Given the description of an element on the screen output the (x, y) to click on. 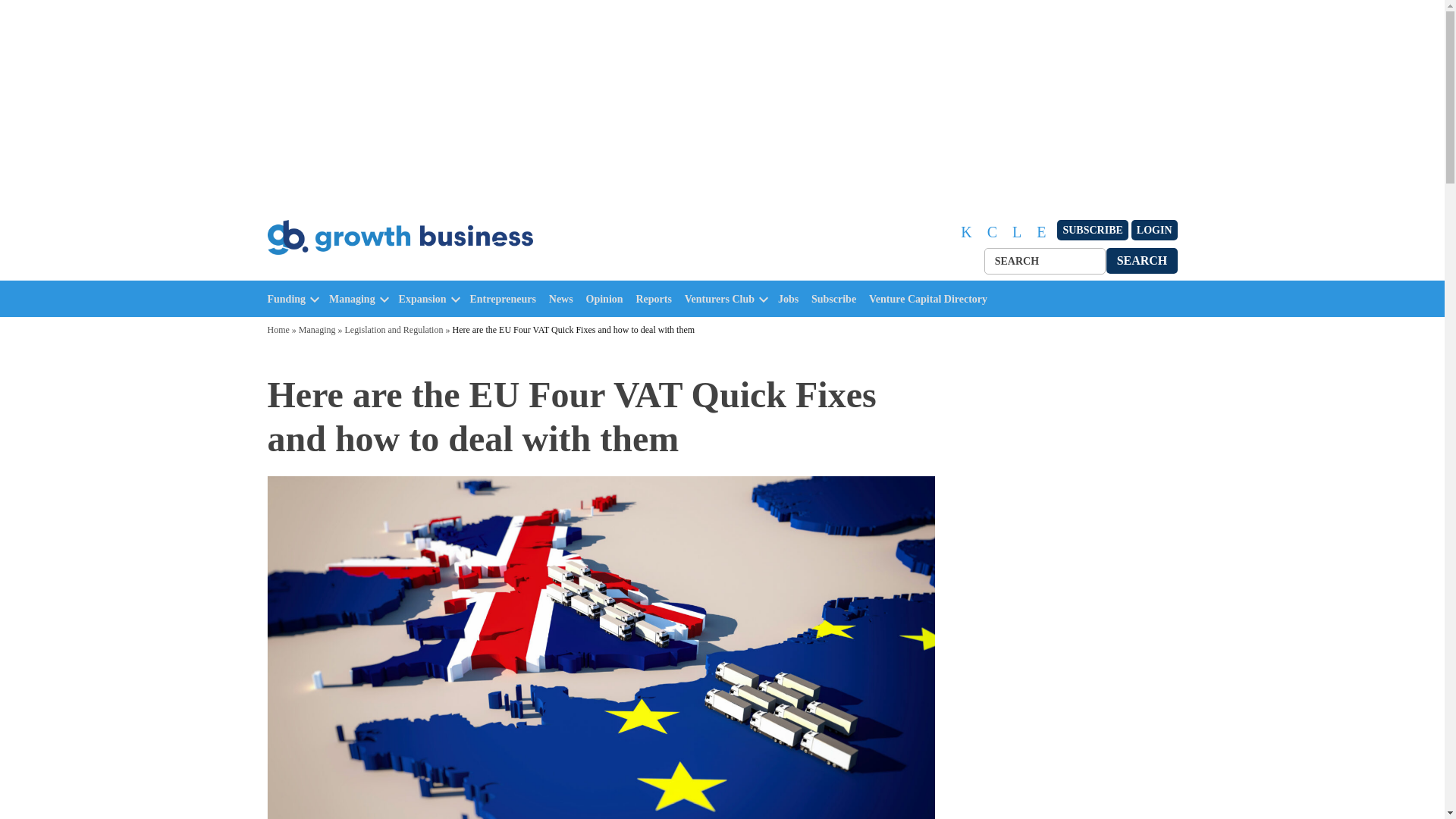
Opinion (608, 298)
SUBSCRIBE (1091, 230)
News (564, 298)
LOGIN (1154, 230)
Funding (285, 298)
Expansion (422, 298)
Entrepreneurs (506, 298)
Reports (656, 298)
Growth Business (332, 271)
SEARCH (1142, 260)
